Given the description of an element on the screen output the (x, y) to click on. 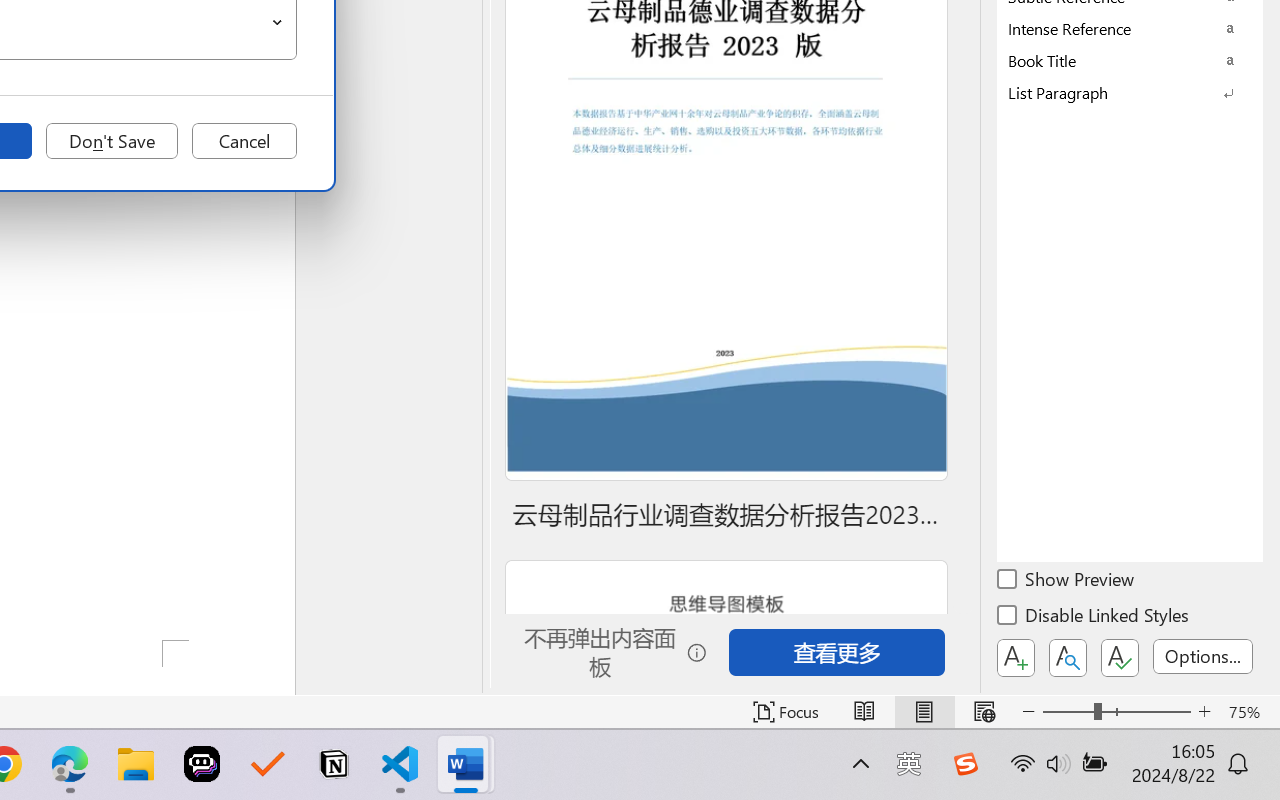
Poe (201, 764)
Don't Save (111, 141)
Book Title (1130, 60)
Read Mode (864, 712)
Class: NetUIImage (1116, 92)
